Given the description of an element on the screen output the (x, y) to click on. 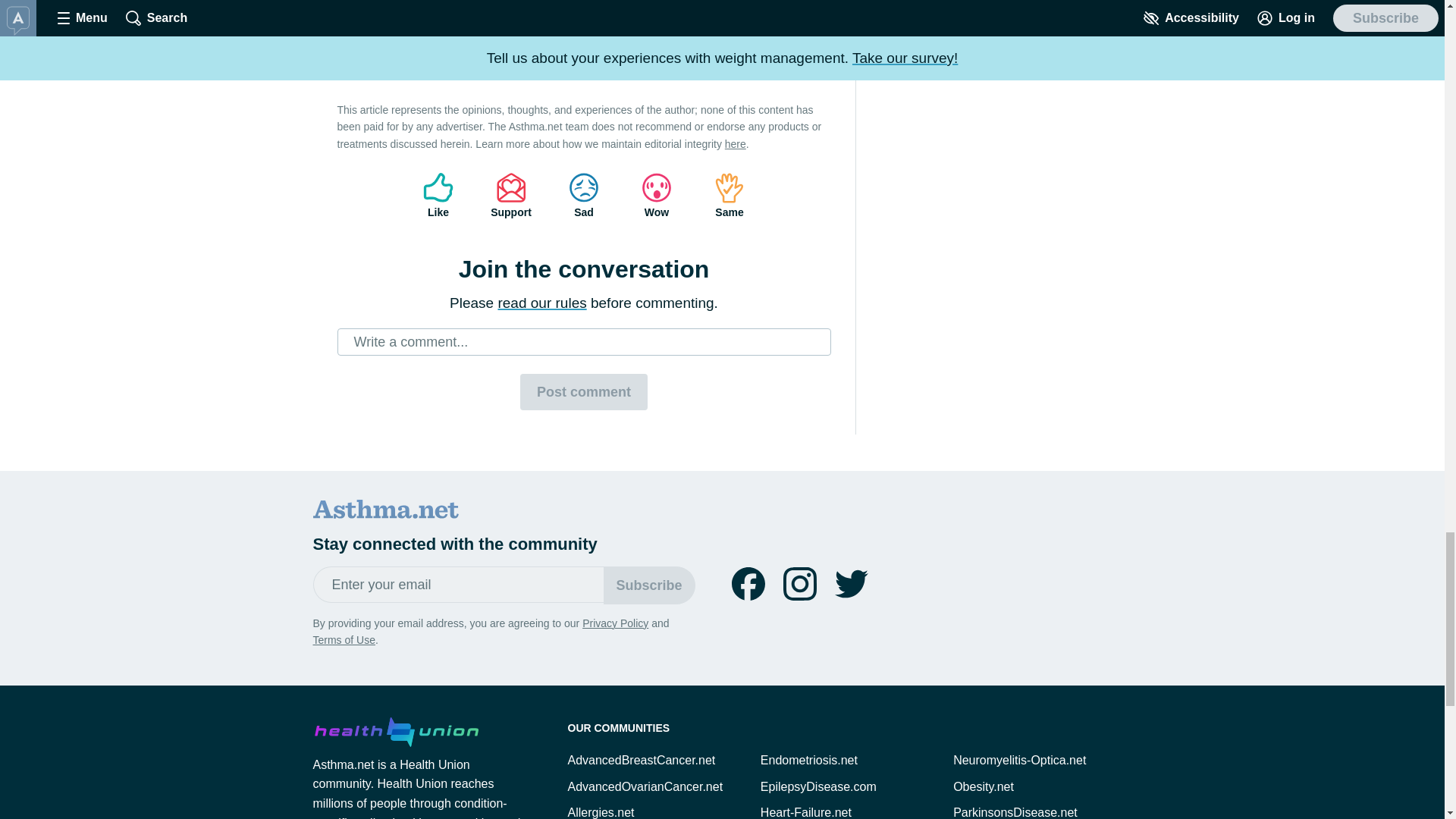
Privacy Policy (614, 623)
Follow us on facebook (747, 583)
Follow us on instagram (799, 583)
Follow us on twitter (850, 583)
Like (437, 195)
Sad (583, 195)
here (735, 143)
Subscribe (649, 585)
Follow us on instagram (799, 583)
Follow us on facebook (747, 583)
read our rules (541, 302)
 Write a comment...  (583, 341)
Post comment (583, 391)
Terms of Use (343, 639)
Support (510, 195)
